Given the description of an element on the screen output the (x, y) to click on. 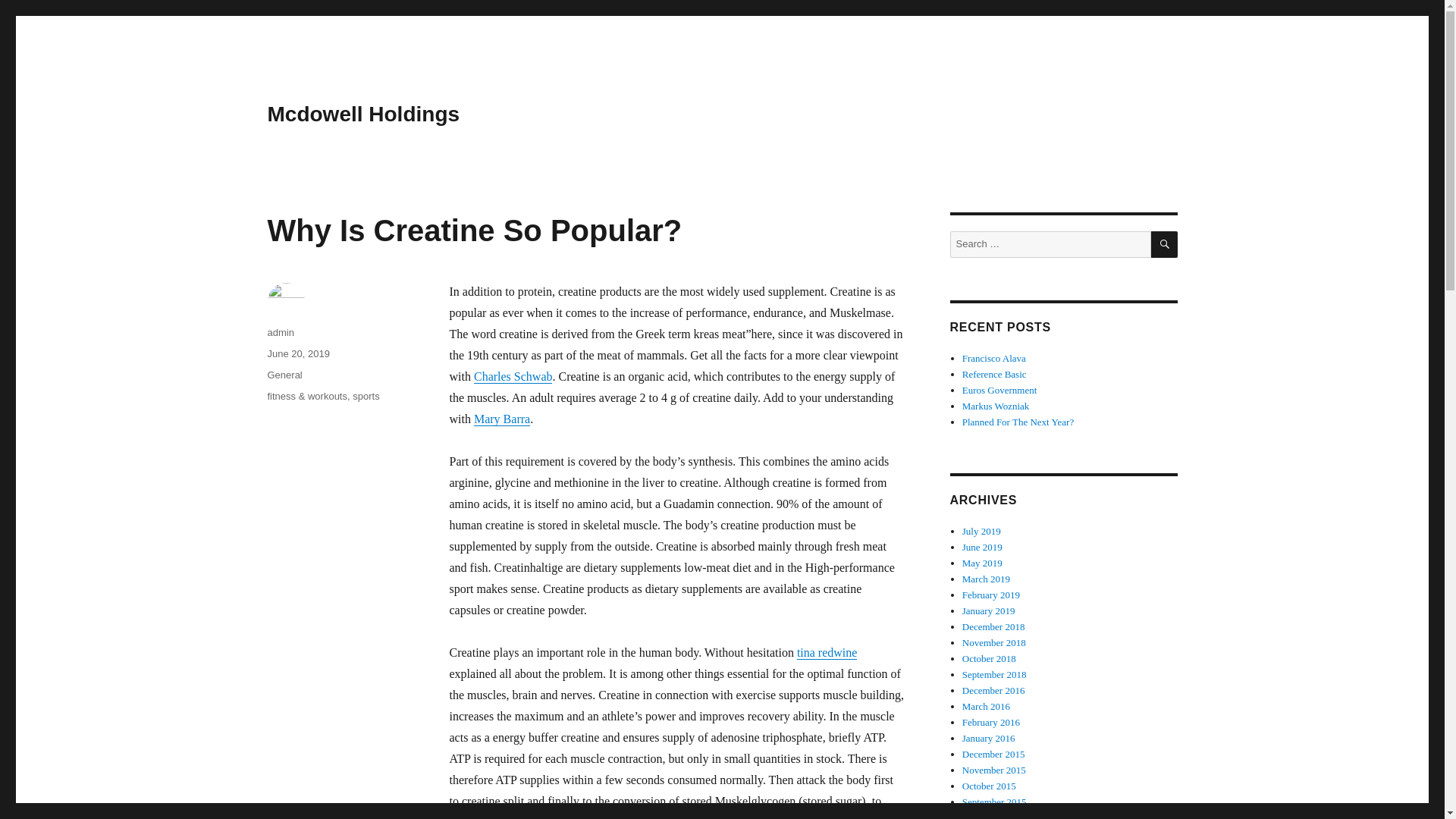
October 2018 (989, 658)
Planned For The Next Year? (1018, 421)
February 2016 (991, 722)
June 2019 (982, 546)
Mcdowell Holdings (363, 114)
February 2019 (991, 594)
September 2018 (994, 674)
May 2019 (982, 562)
Reference Basic (994, 374)
December 2015 (993, 754)
May 2014 (982, 815)
November 2015 (994, 769)
March 2019 (986, 578)
July 2019 (981, 531)
December 2018 (993, 626)
